Given the description of an element on the screen output the (x, y) to click on. 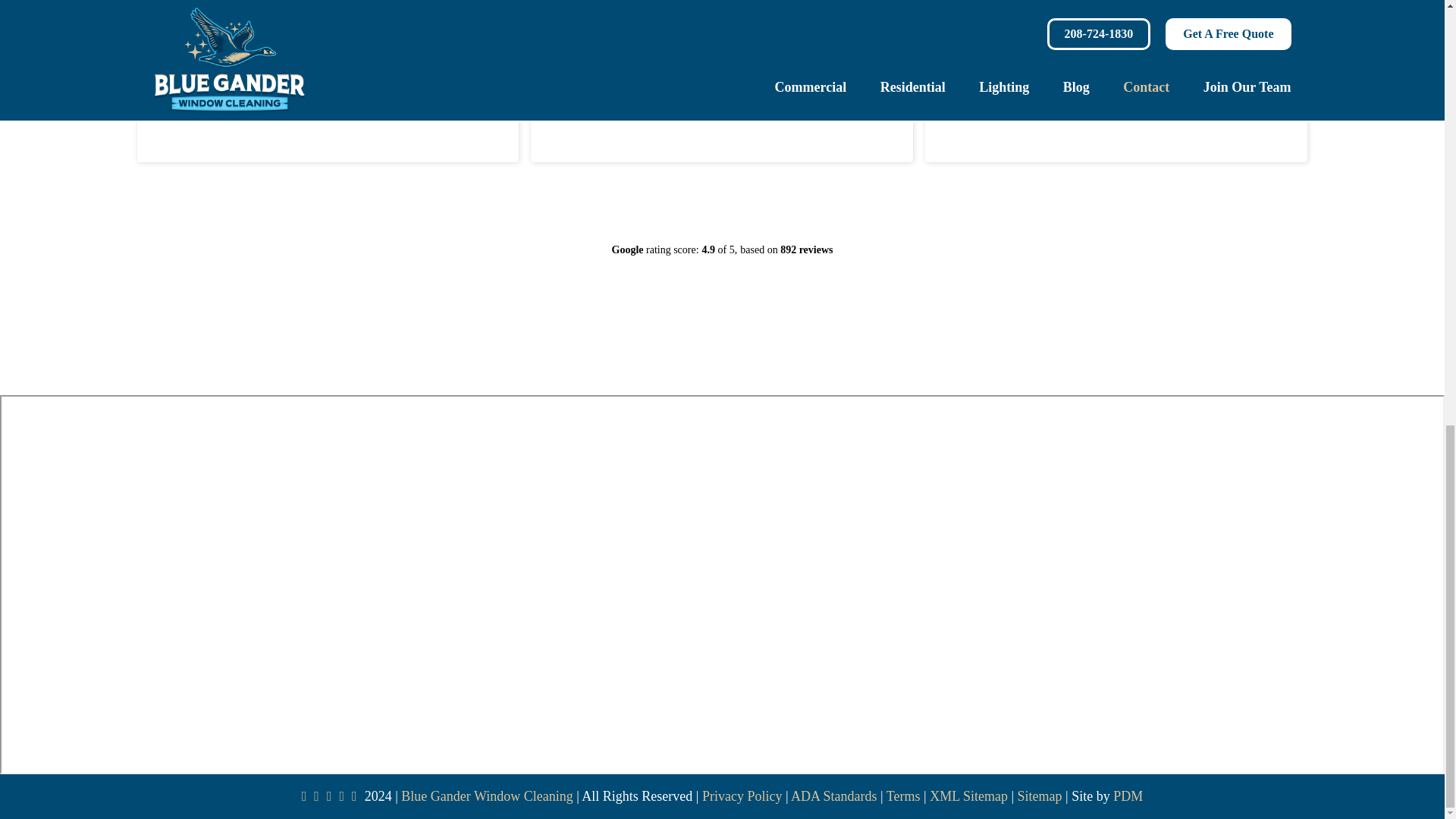
Ogden SEO (1127, 795)
